Given the description of an element on the screen output the (x, y) to click on. 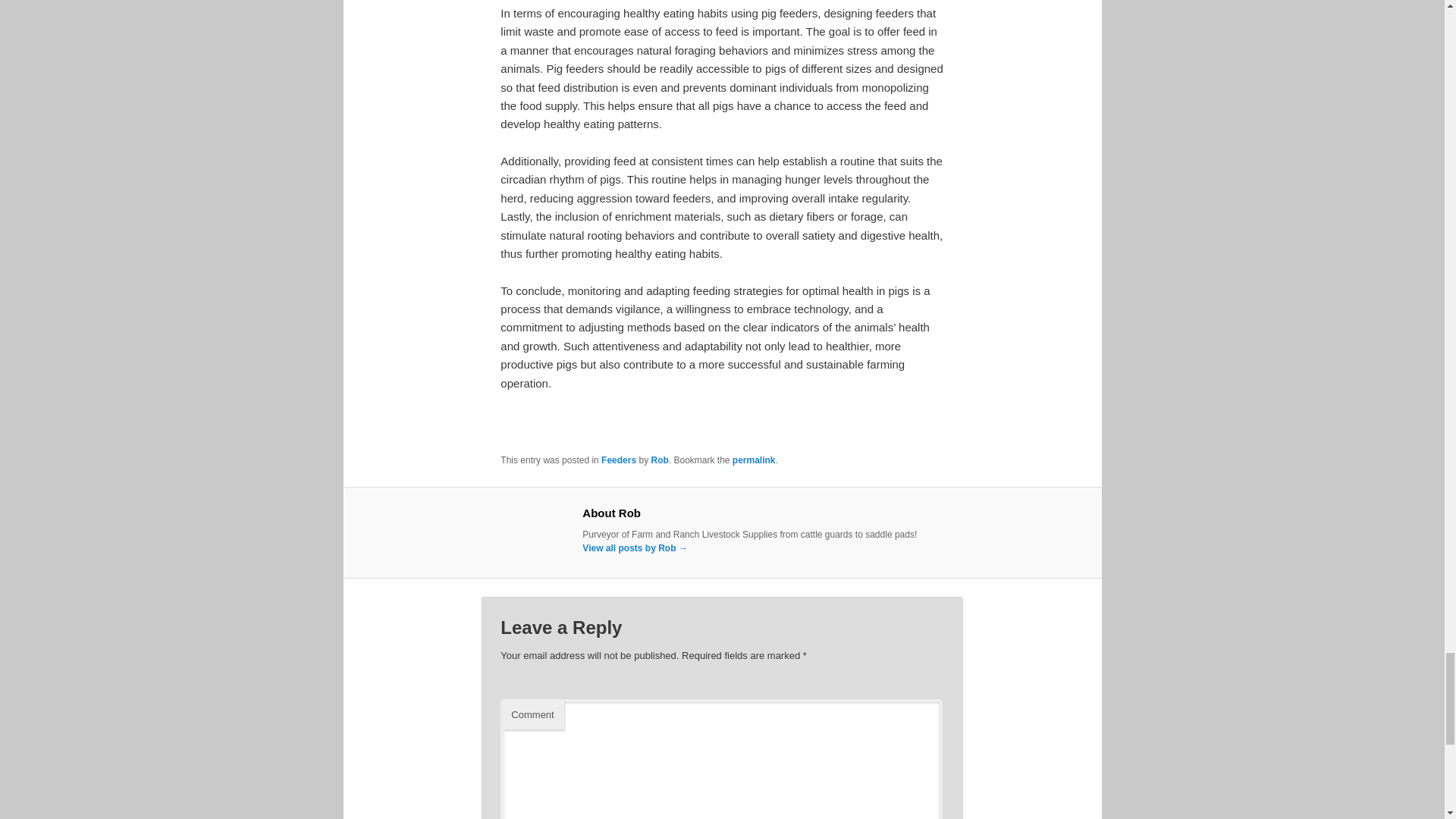
Find us on YouTube (598, 429)
Feeders (618, 460)
Follow us on Facebook (518, 429)
Rob (659, 460)
Follow us on Twitter (558, 429)
permalink (754, 460)
